Given the description of an element on the screen output the (x, y) to click on. 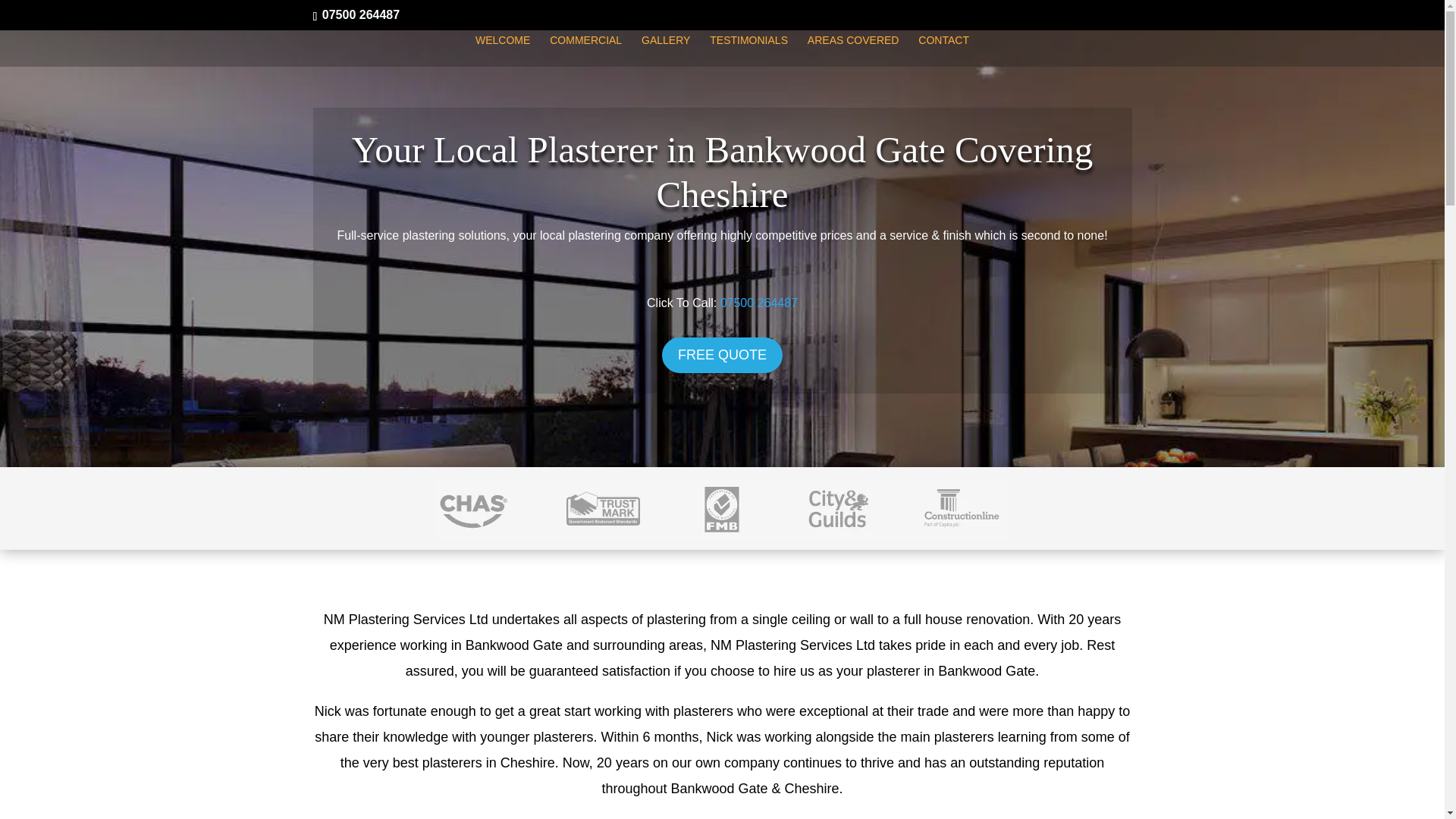
AREAS COVERED (853, 50)
Logos - NM Plastering Services Ltd (722, 508)
CONTACT (943, 50)
07500 264487 (758, 302)
GALLERY (666, 50)
WELCOME (502, 50)
COMMERCIAL (585, 50)
FREE QUOTE (722, 355)
TESTIMONIALS (748, 50)
